Given the description of an element on the screen output the (x, y) to click on. 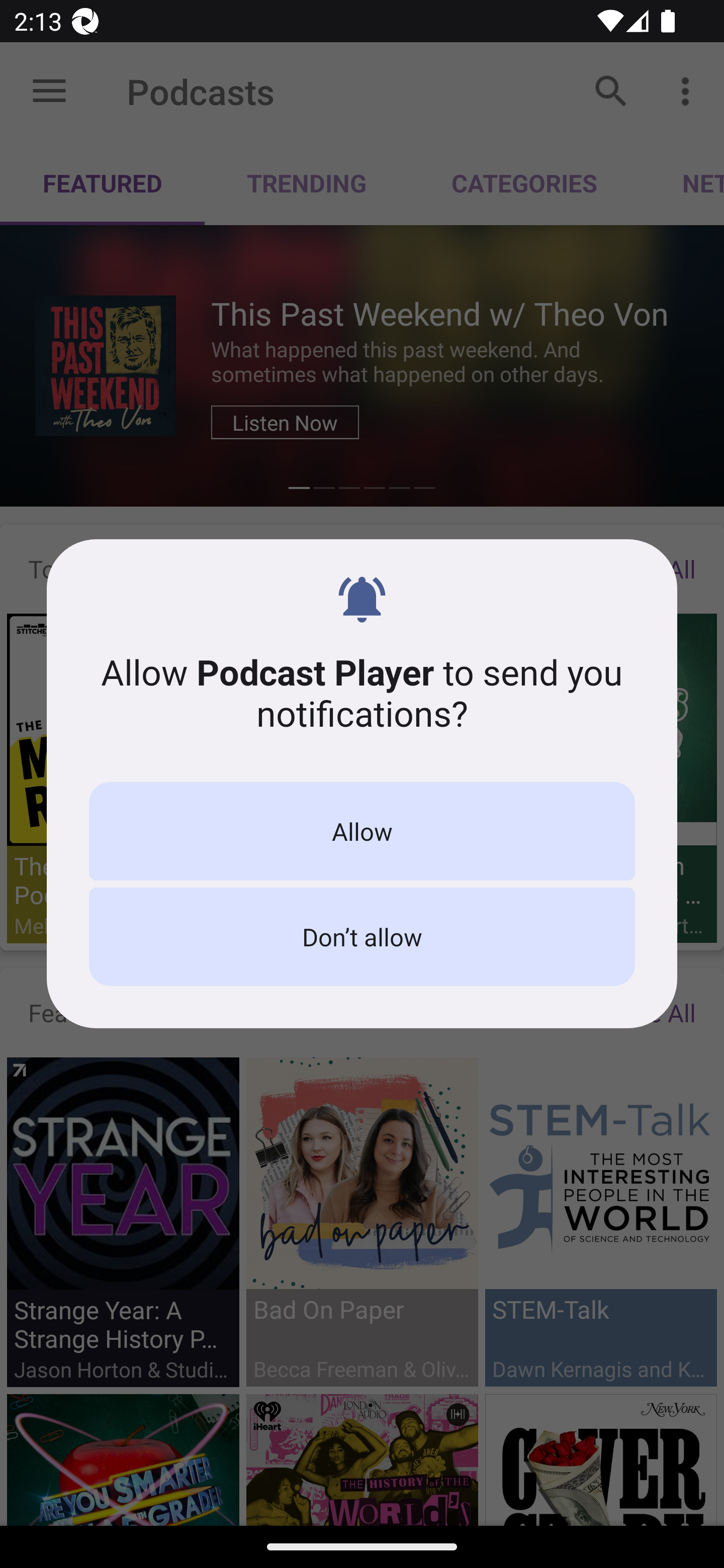
Allow (361, 831)
Don’t allow (361, 936)
